Given the description of an element on the screen output the (x, y) to click on. 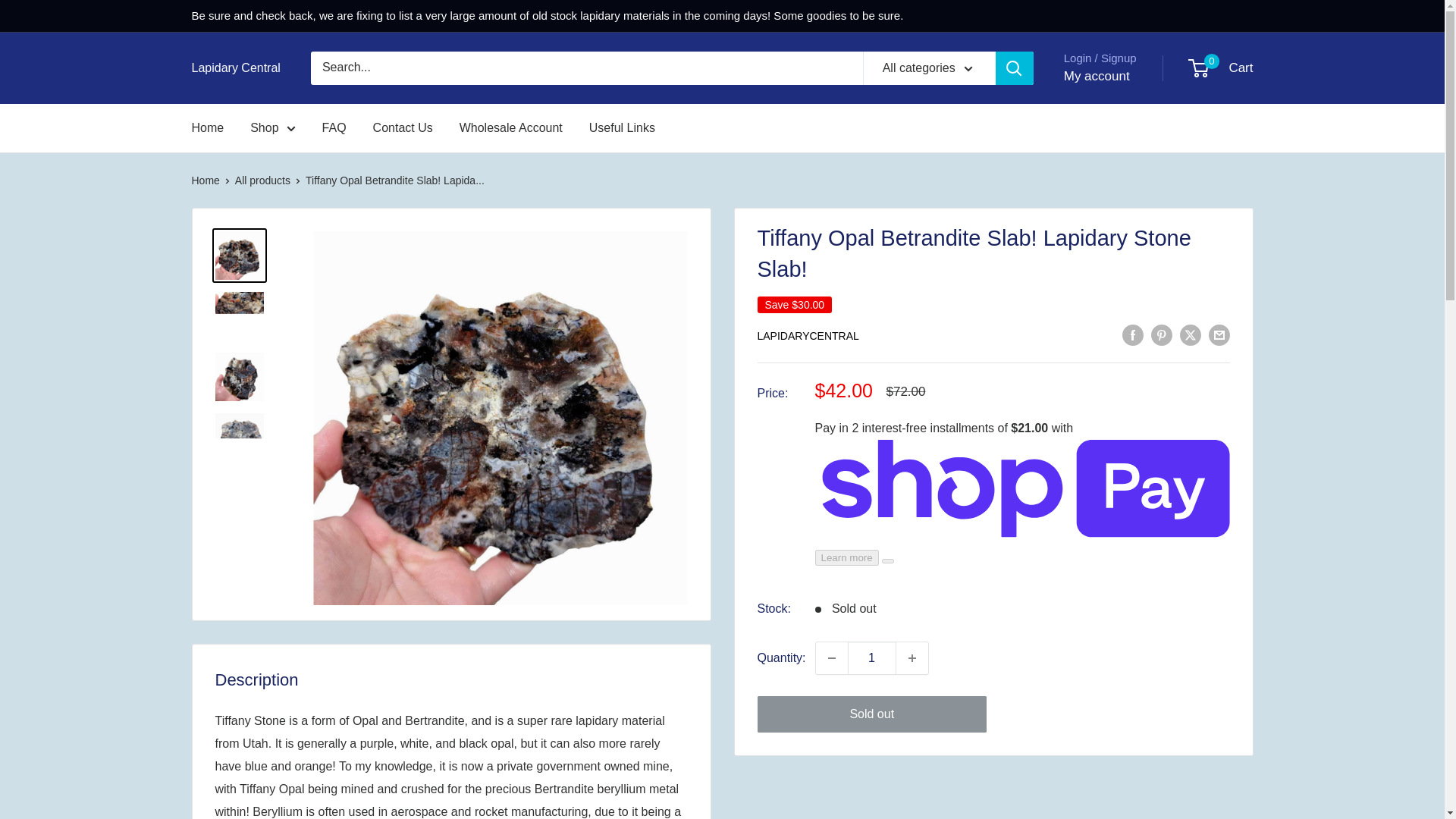
Lapidary Central (234, 67)
Home (207, 128)
Shop (272, 128)
1 (871, 658)
Decrease quantity by 1 (831, 658)
Increase quantity by 1 (912, 658)
My account (1096, 76)
